Given the description of an element on the screen output the (x, y) to click on. 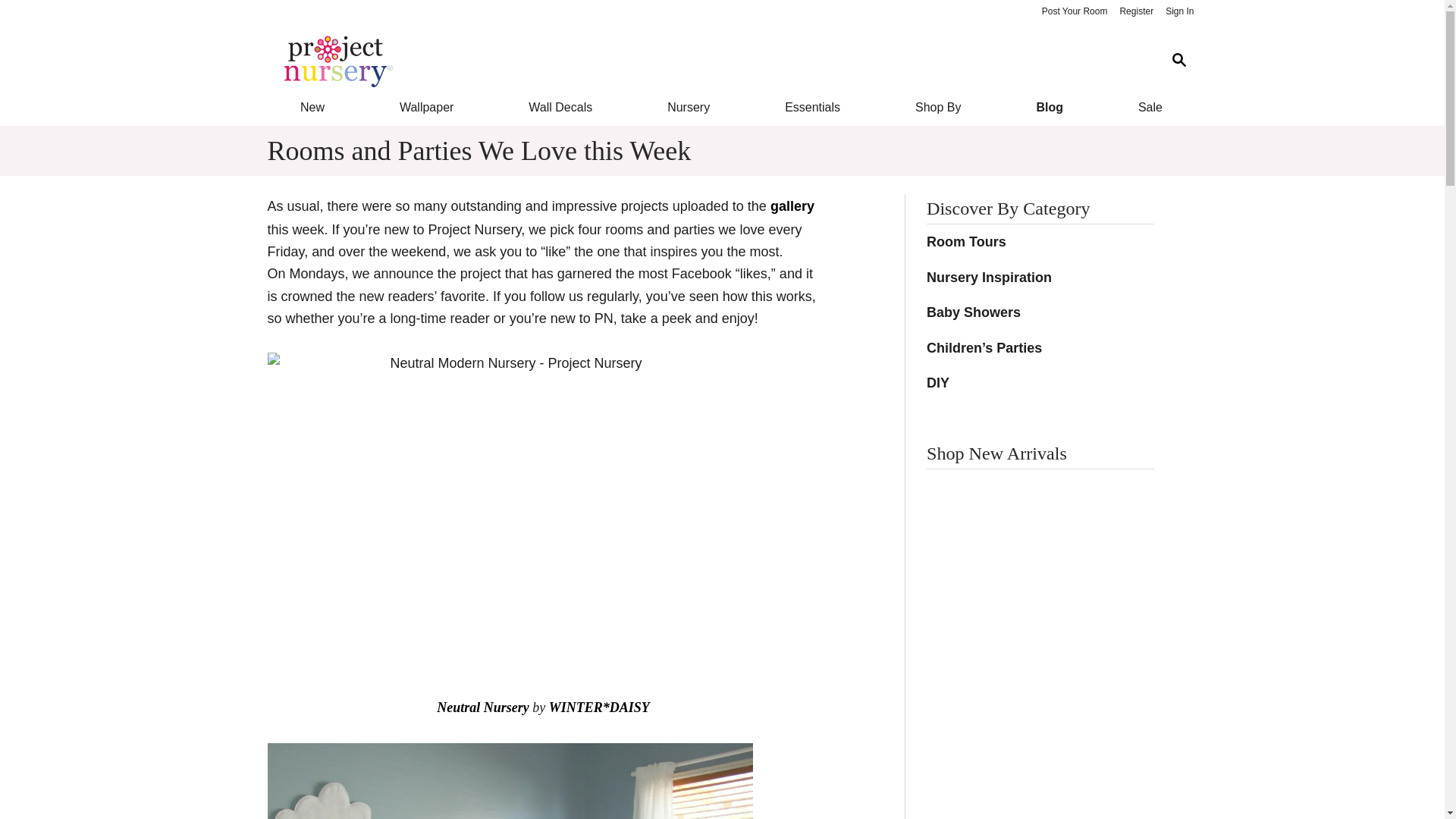
Wall Decals (561, 107)
Wallpaper (425, 107)
New (311, 107)
Post Your Room (1074, 11)
Sign In (1178, 11)
Search (1178, 60)
Register (1135, 11)
Post Your Room (1074, 11)
Calming Light Blue and White Nursery (509, 780)
